Given the description of an element on the screen output the (x, y) to click on. 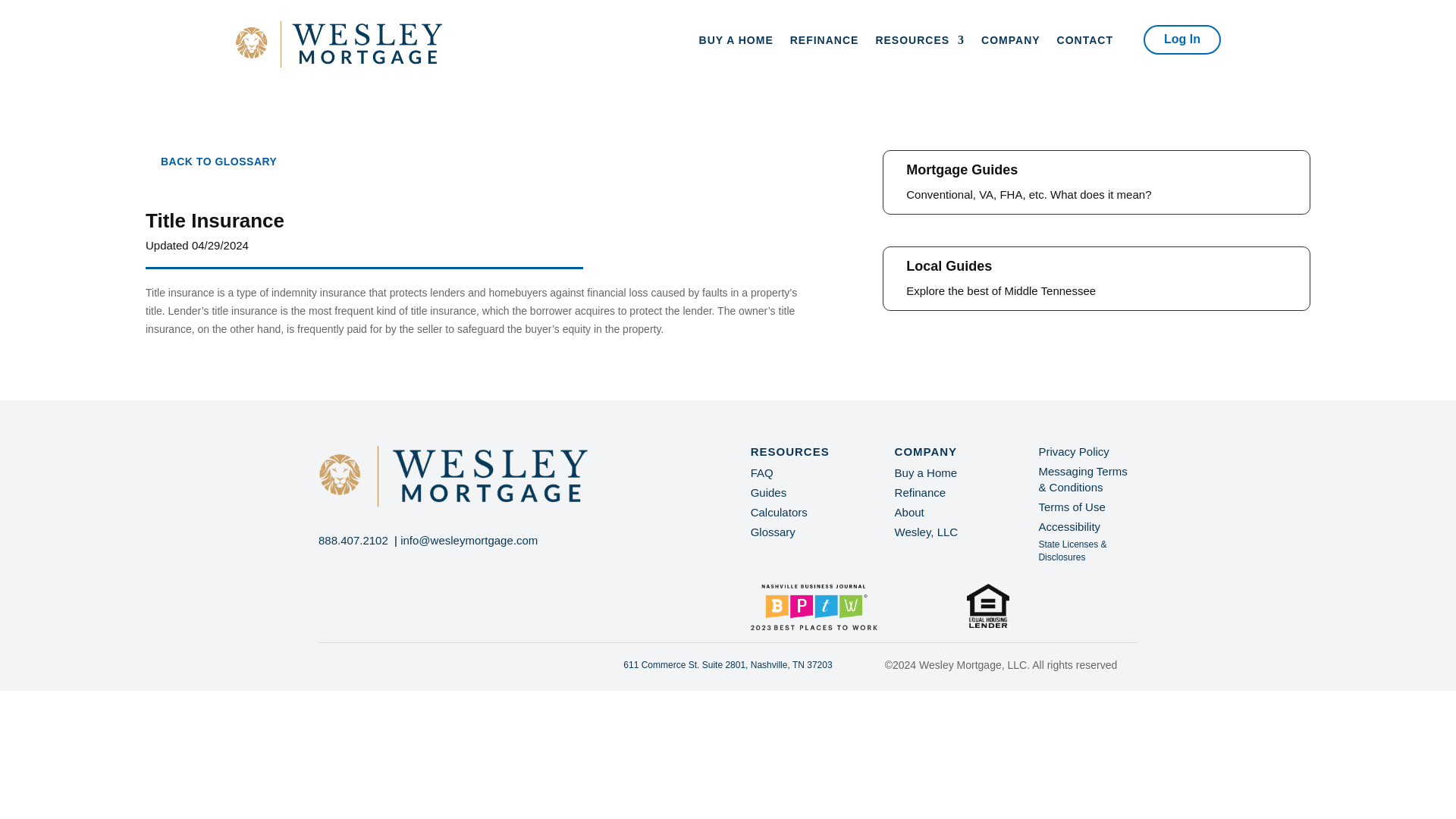
BUY A HOME (735, 43)
equal-housing-lender-2 (987, 605)
COMPANY (1011, 43)
wesley-mortgage-logo (339, 43)
Log In (1181, 39)
wesley-mortgage-logo (453, 476)
CONTACT (1085, 43)
REFINANCE (824, 43)
RESOURCES (919, 43)
